Given the description of an element on the screen output the (x, y) to click on. 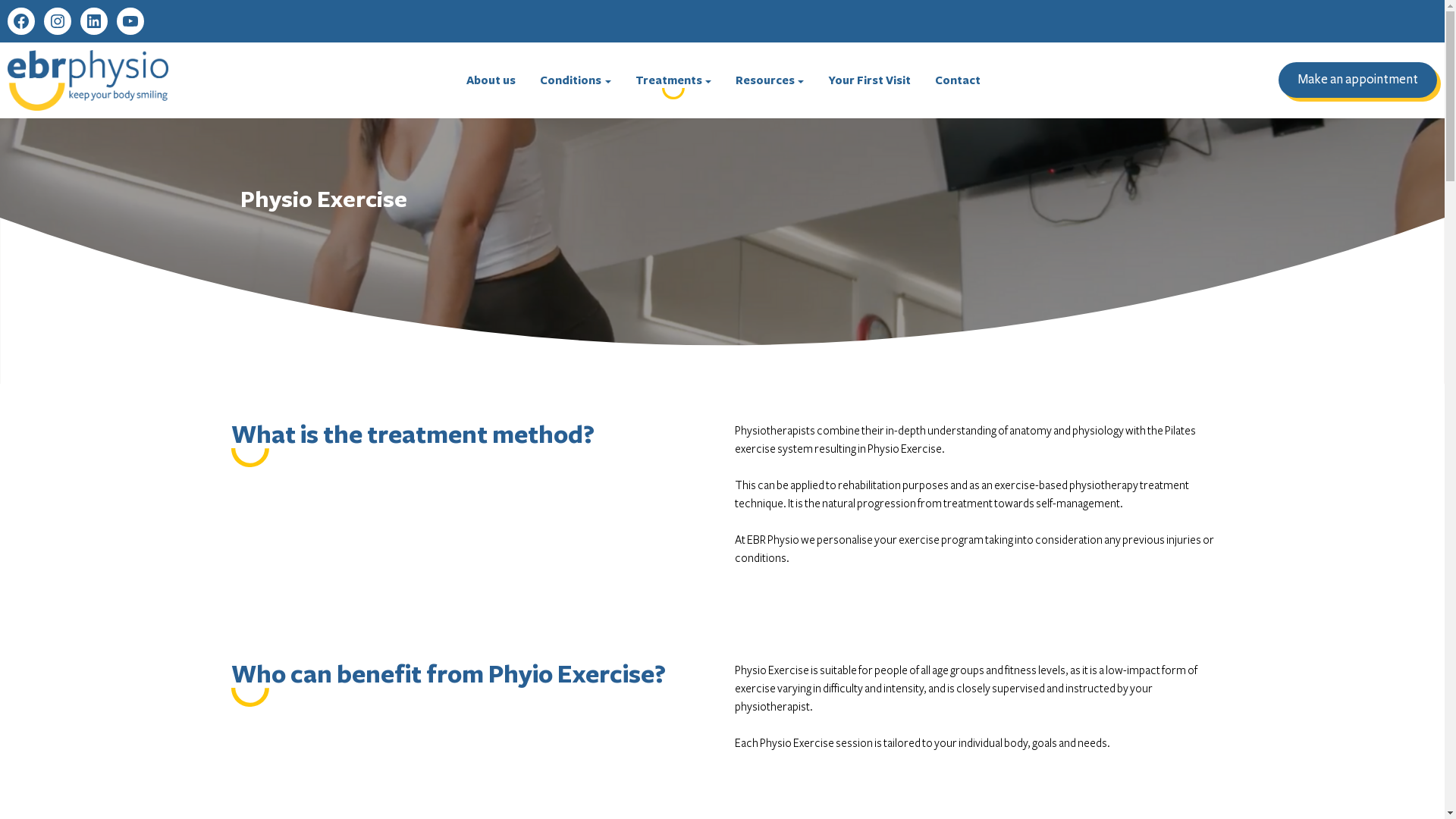
Treatments Element type: text (673, 80)
YouTube Element type: text (130, 20)
Resources Element type: text (769, 80)
Conditions Element type: text (574, 80)
About us Element type: text (490, 80)
Your First Visit Element type: text (868, 80)
Contact Element type: text (957, 80)
Facebook Element type: text (20, 20)
Make an appointment Element type: text (1357, 79)
LinkedIn Element type: text (93, 20)
Instagram Element type: text (57, 20)
